Given the description of an element on the screen output the (x, y) to click on. 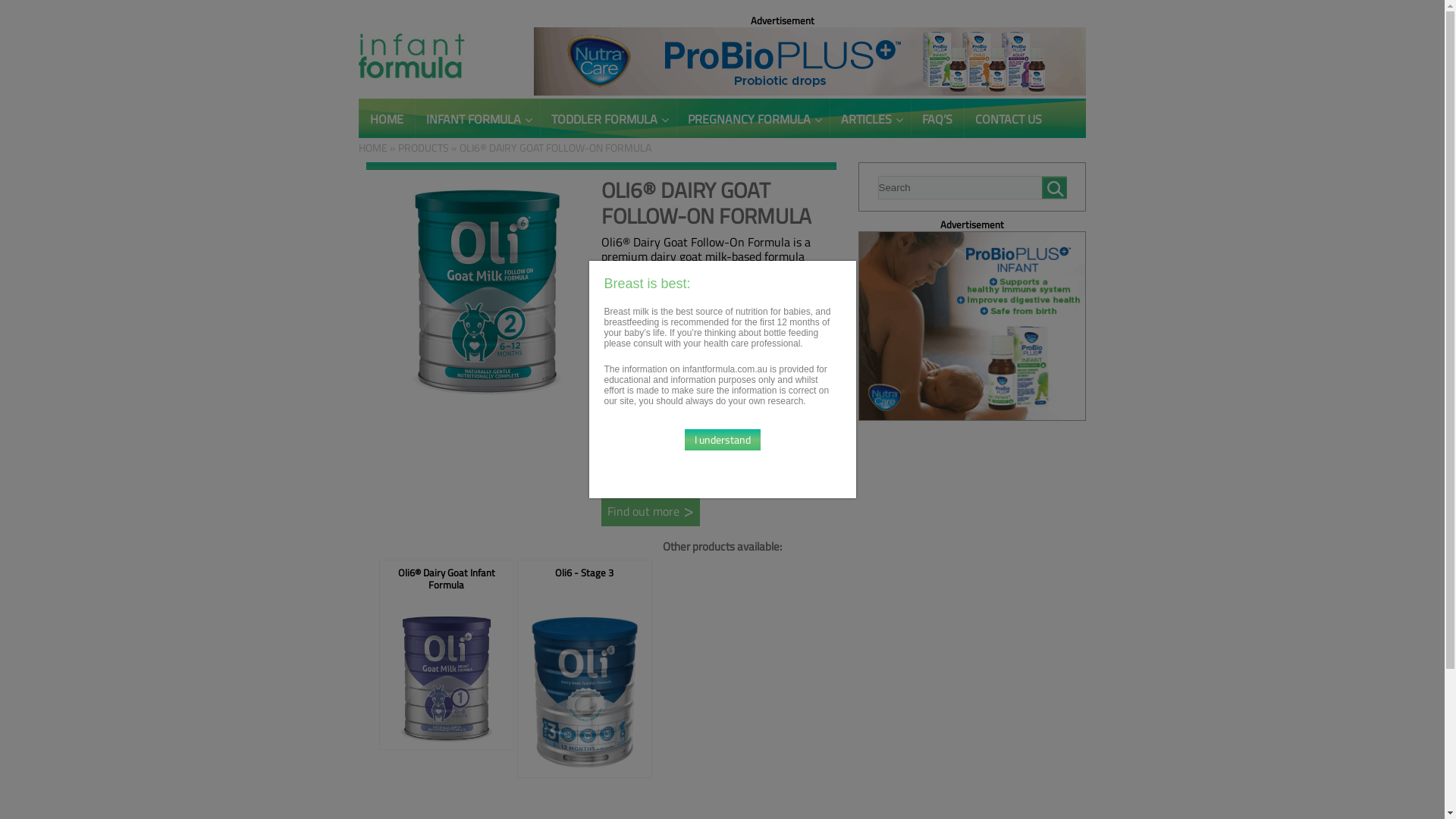
I understand Element type: text (721, 439)
PRODUCTS Element type: text (422, 147)
HOME Element type: text (385, 118)
Find out more Element type: text (649, 510)
TODDLER FORMULA Element type: text (607, 118)
ARTICLES Element type: text (869, 118)
INFANT FORMULA Element type: text (476, 118)
PREGNANCY FORMULA Element type: text (752, 118)
HOME Element type: text (371, 147)
CONTACT US Element type: text (1007, 118)
